Given the description of an element on the screen output the (x, y) to click on. 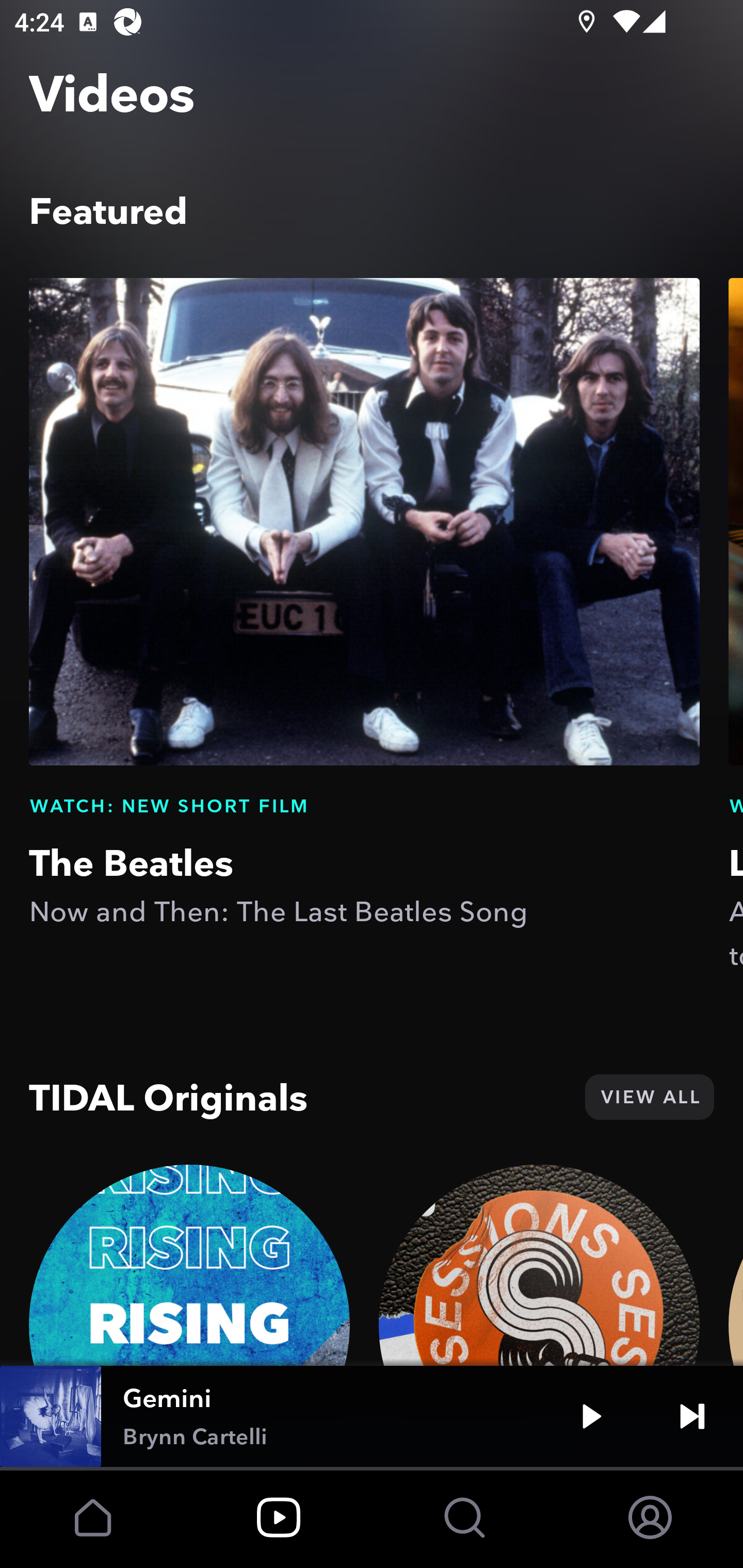
VIEW ALL (649, 1096)
Gemini Brynn Cartelli Play (371, 1416)
Play (590, 1416)
